Given the description of an element on the screen output the (x, y) to click on. 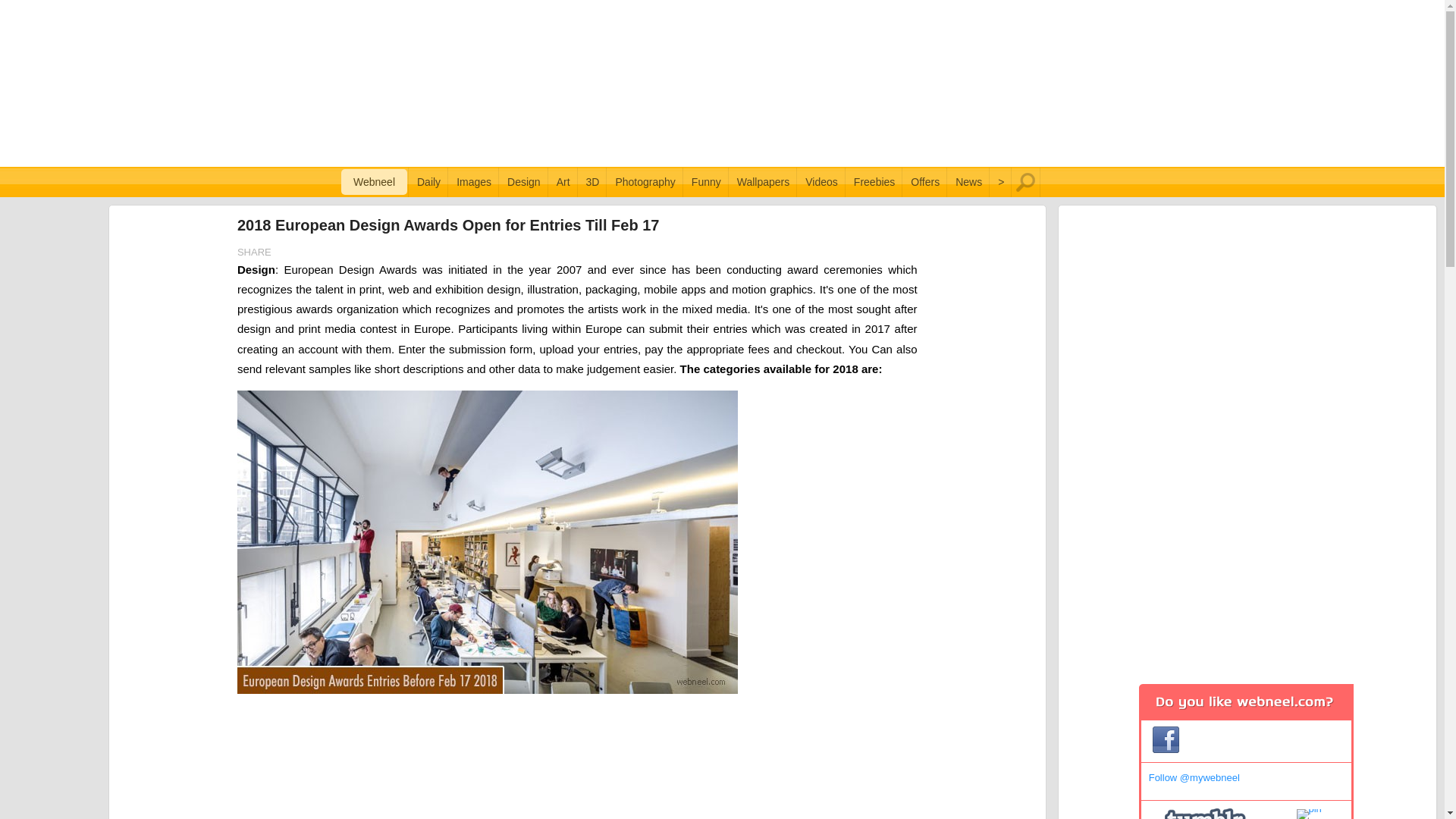
Videos (821, 181)
Advertisement (722, 82)
Advertisement (580, 762)
Images (473, 181)
Webneel (373, 181)
News (968, 181)
Design (523, 181)
3D (592, 181)
Photography (644, 181)
Offers (924, 181)
Funny (705, 181)
Wallpapers (763, 181)
Art (563, 181)
Freebies (874, 181)
Daily (428, 181)
